Given the description of an element on the screen output the (x, y) to click on. 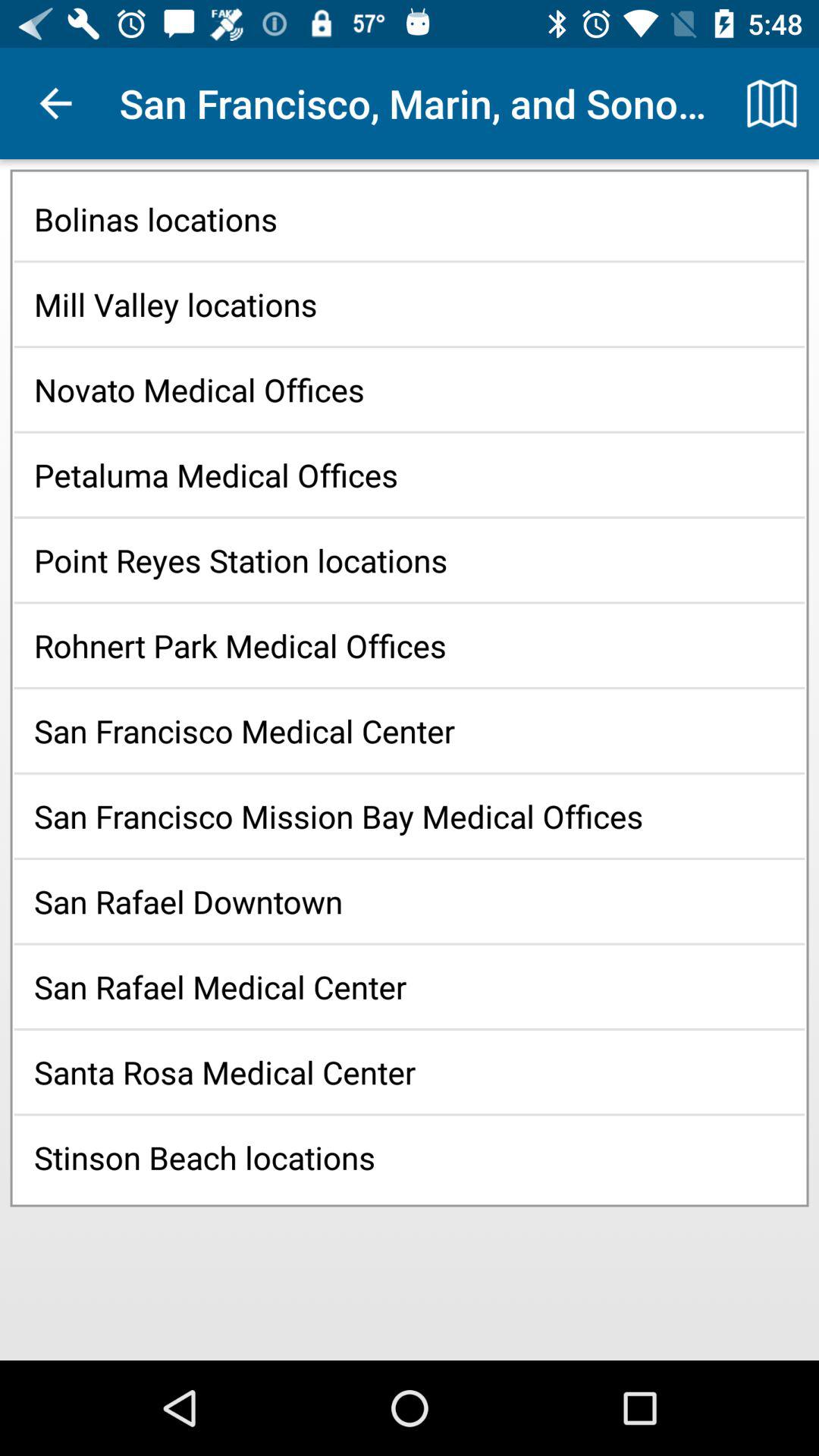
turn on the novato medical offices (409, 389)
